Given the description of an element on the screen output the (x, y) to click on. 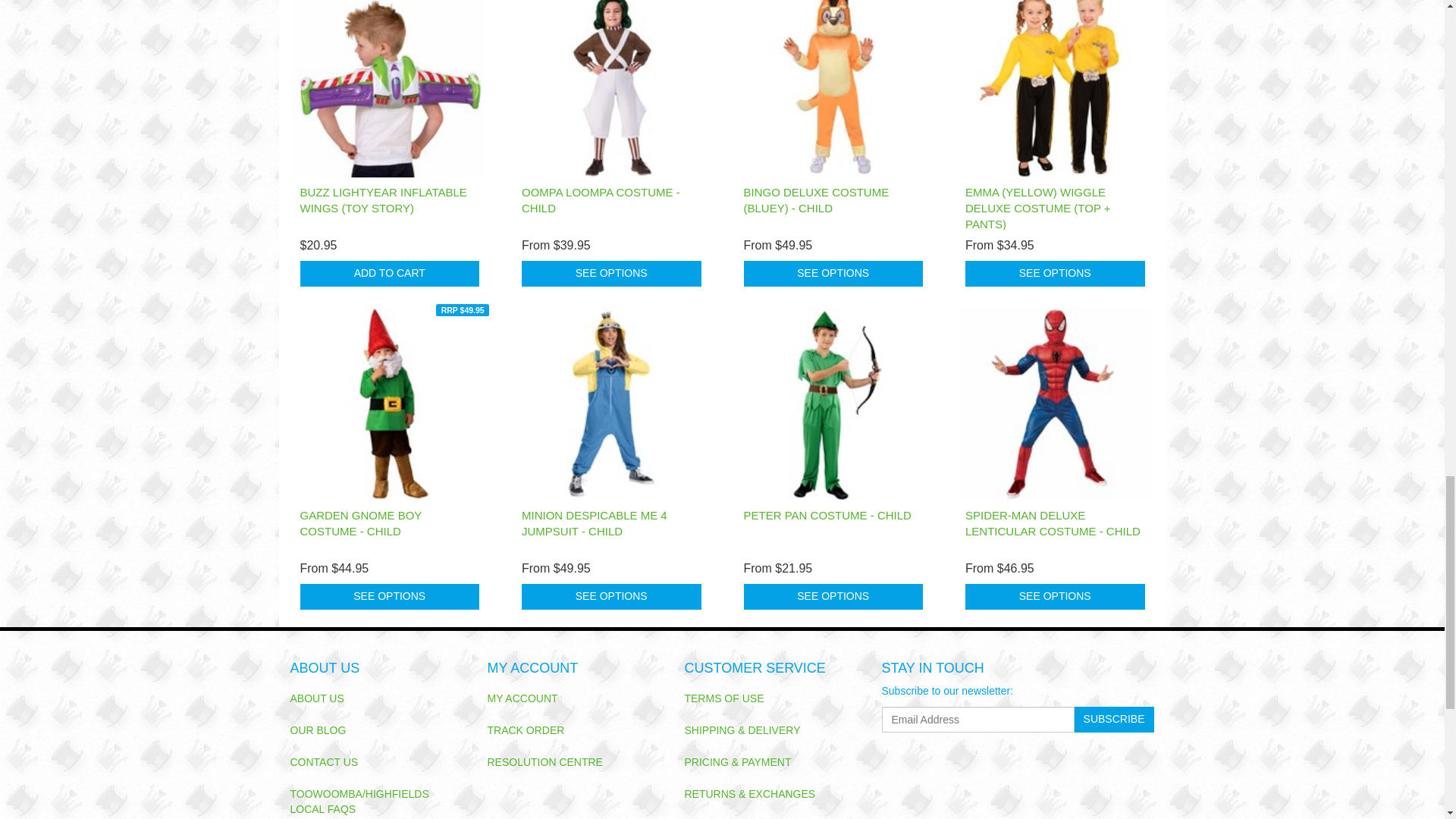
Subscribe (1114, 719)
